Given the description of an element on the screen output the (x, y) to click on. 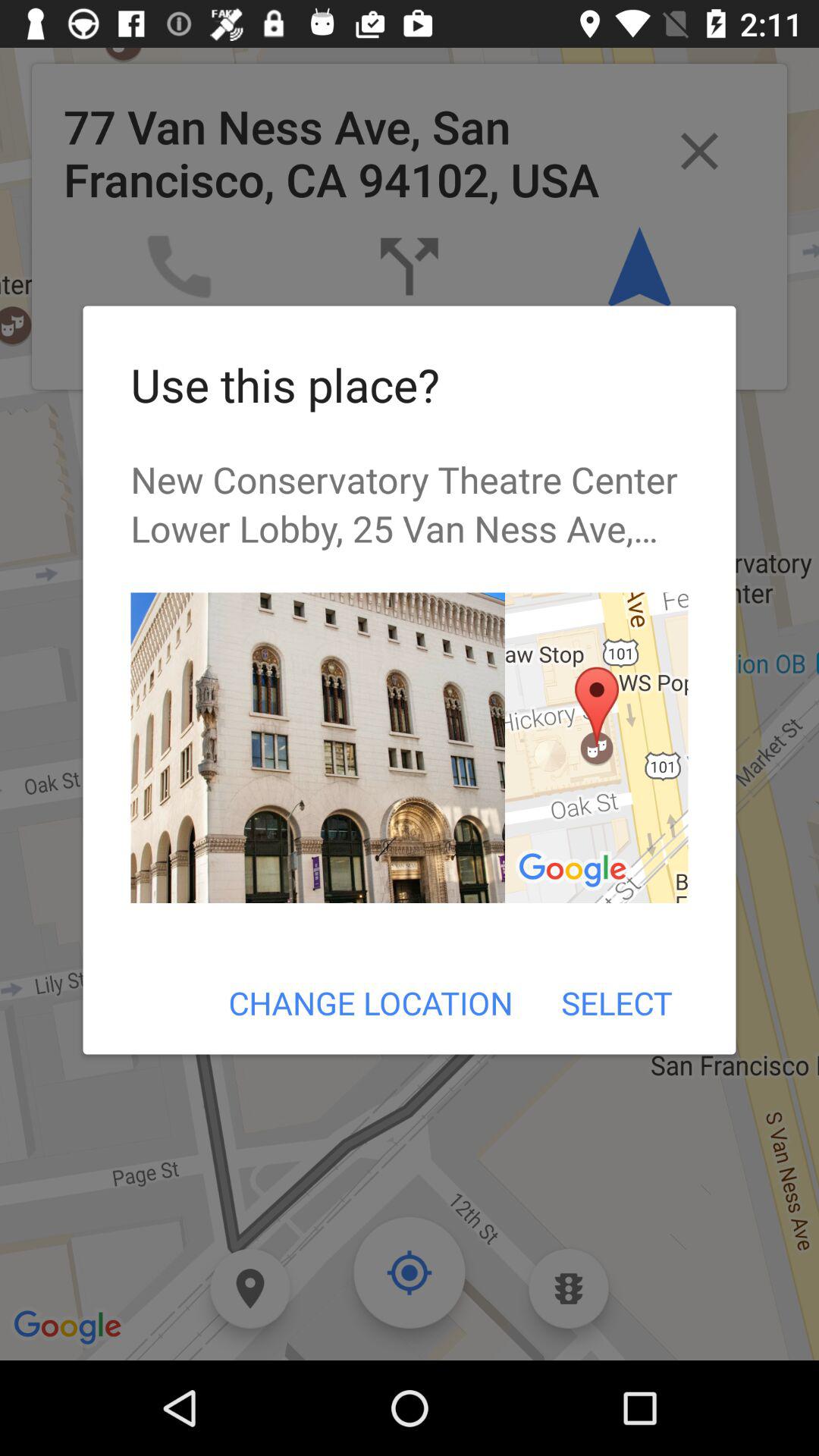
choose change location item (370, 1002)
